Given the description of an element on the screen output the (x, y) to click on. 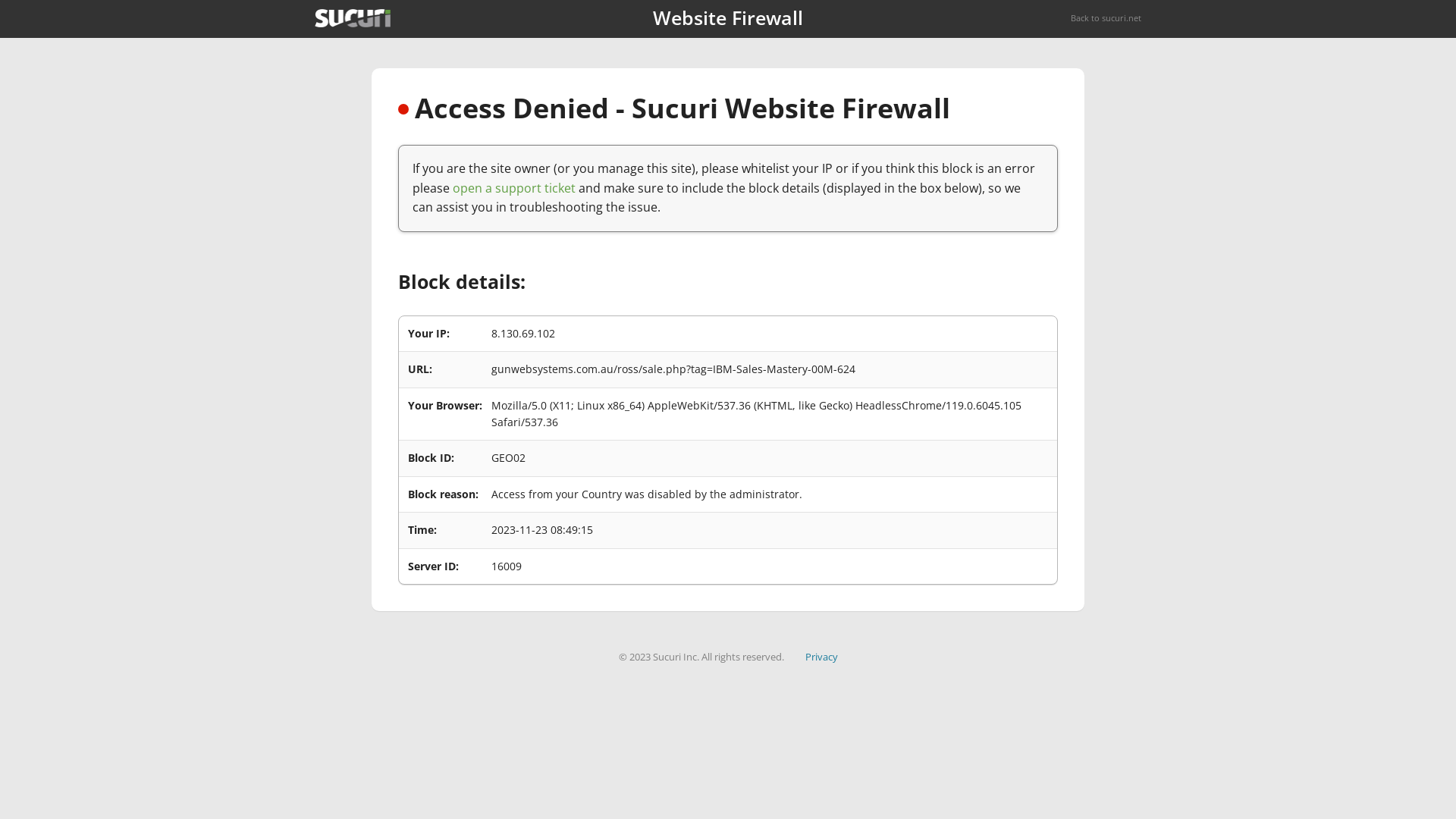
open a support ticket Element type: text (513, 187)
Privacy Element type: text (821, 656)
Back to sucuri.net Element type: text (1105, 18)
